Given the description of an element on the screen output the (x, y) to click on. 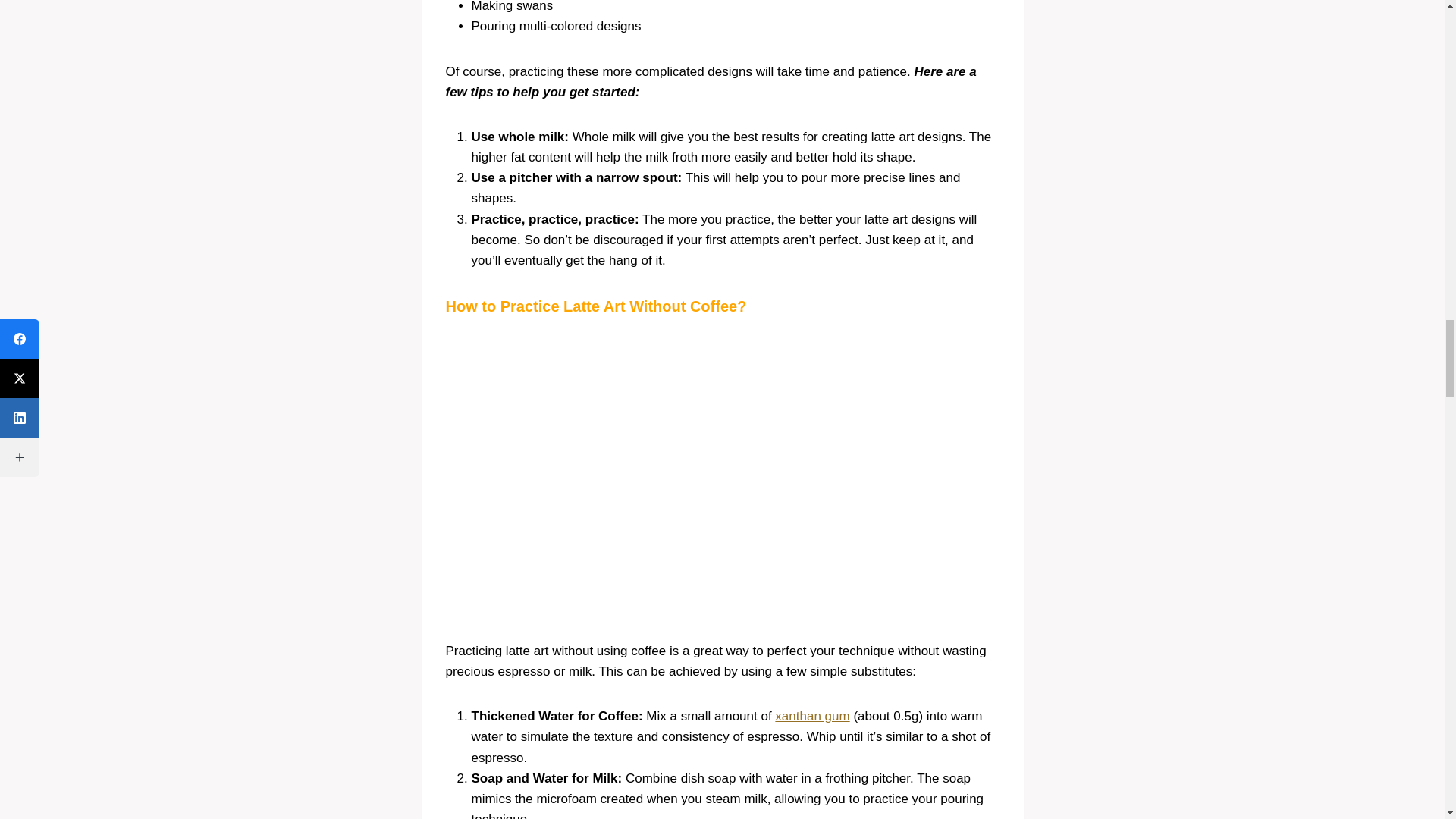
xanthan gum (811, 716)
